Given the description of an element on the screen output the (x, y) to click on. 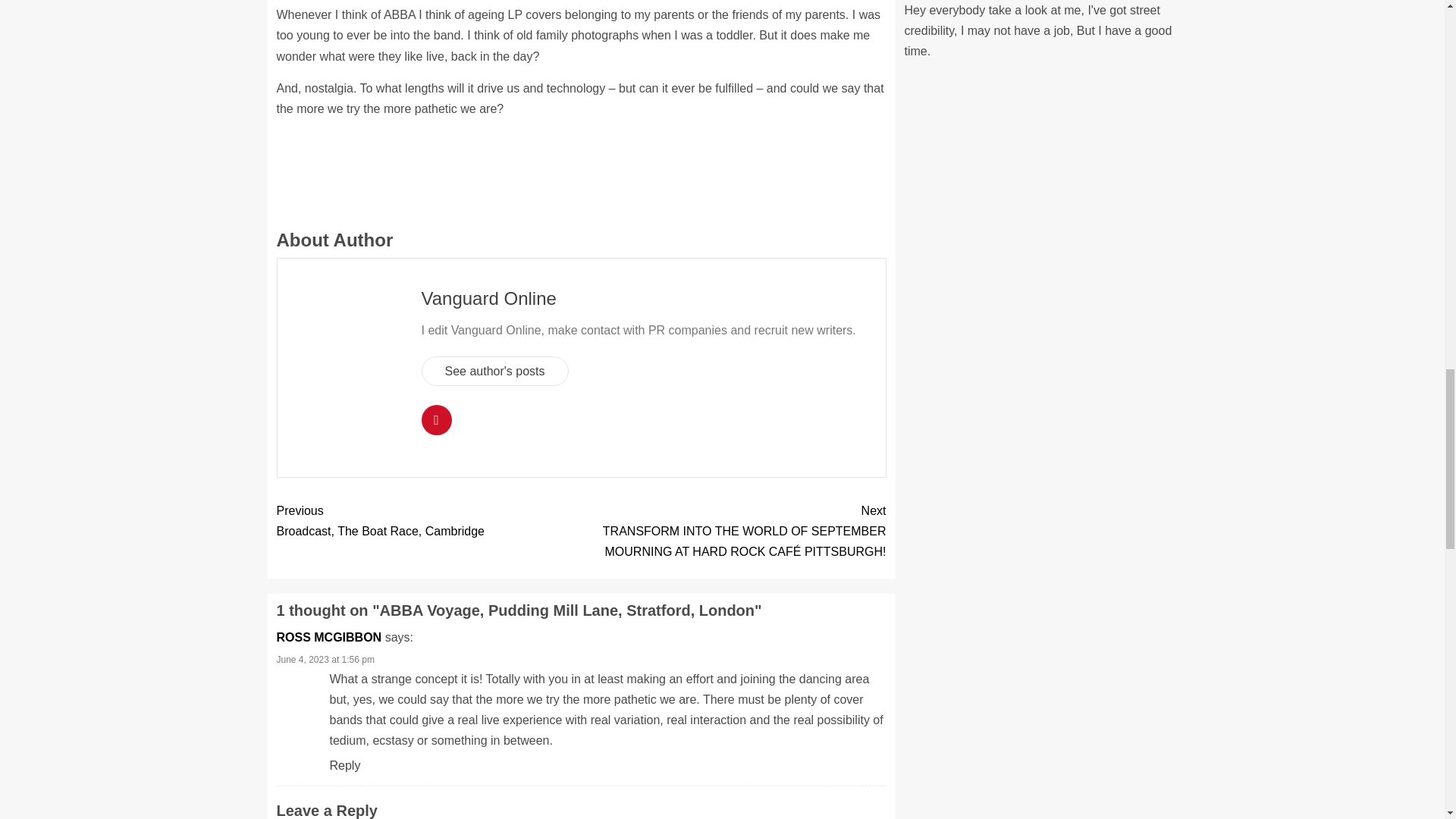
ROSS MCGIBBON (328, 636)
June 4, 2023 at 1:56 pm (325, 659)
Reply (344, 765)
Vanguard Online (489, 298)
See author's posts (495, 370)
